Given the description of an element on the screen output the (x, y) to click on. 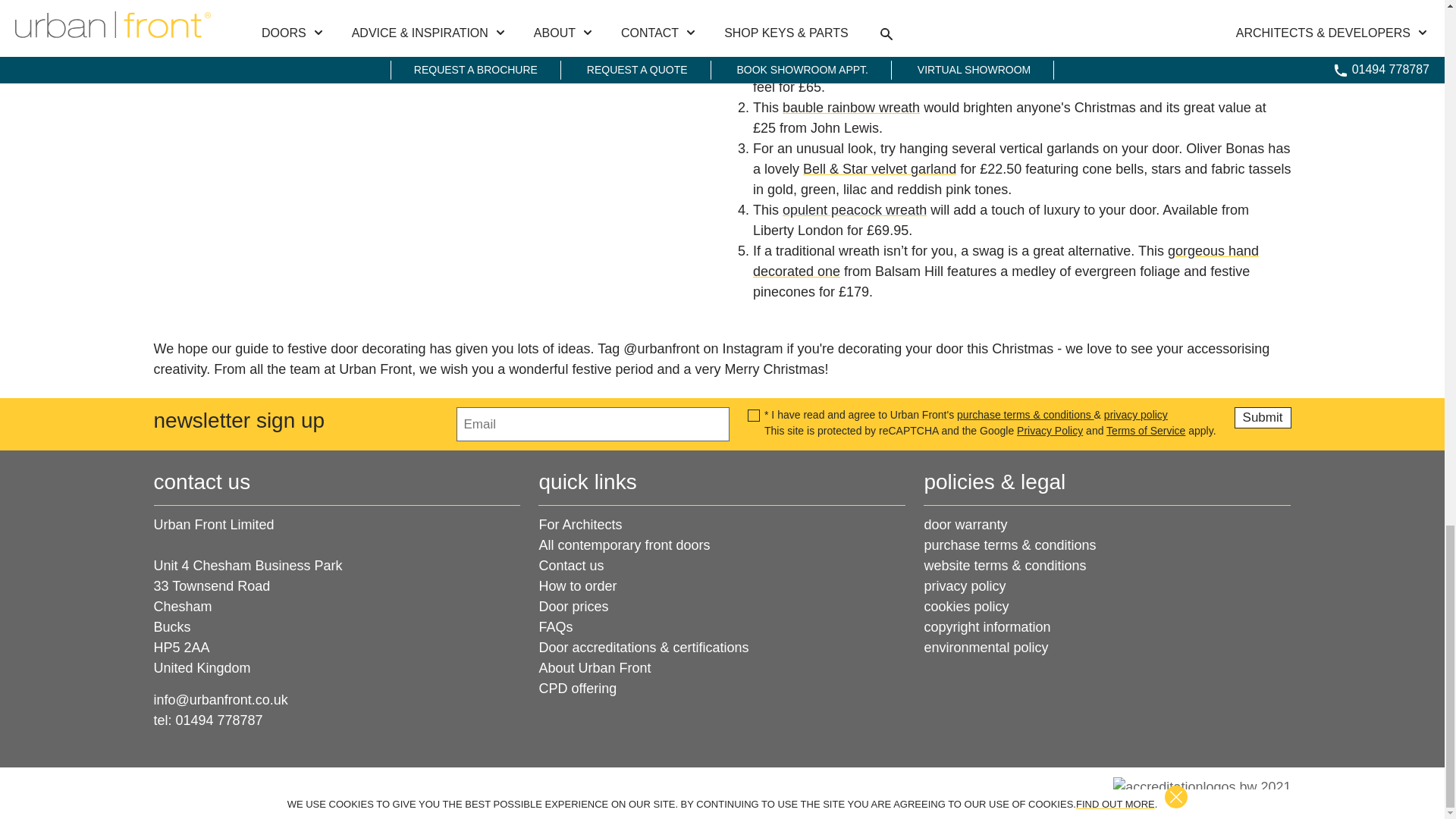
Submit (1262, 417)
